Given the description of an element on the screen output the (x, y) to click on. 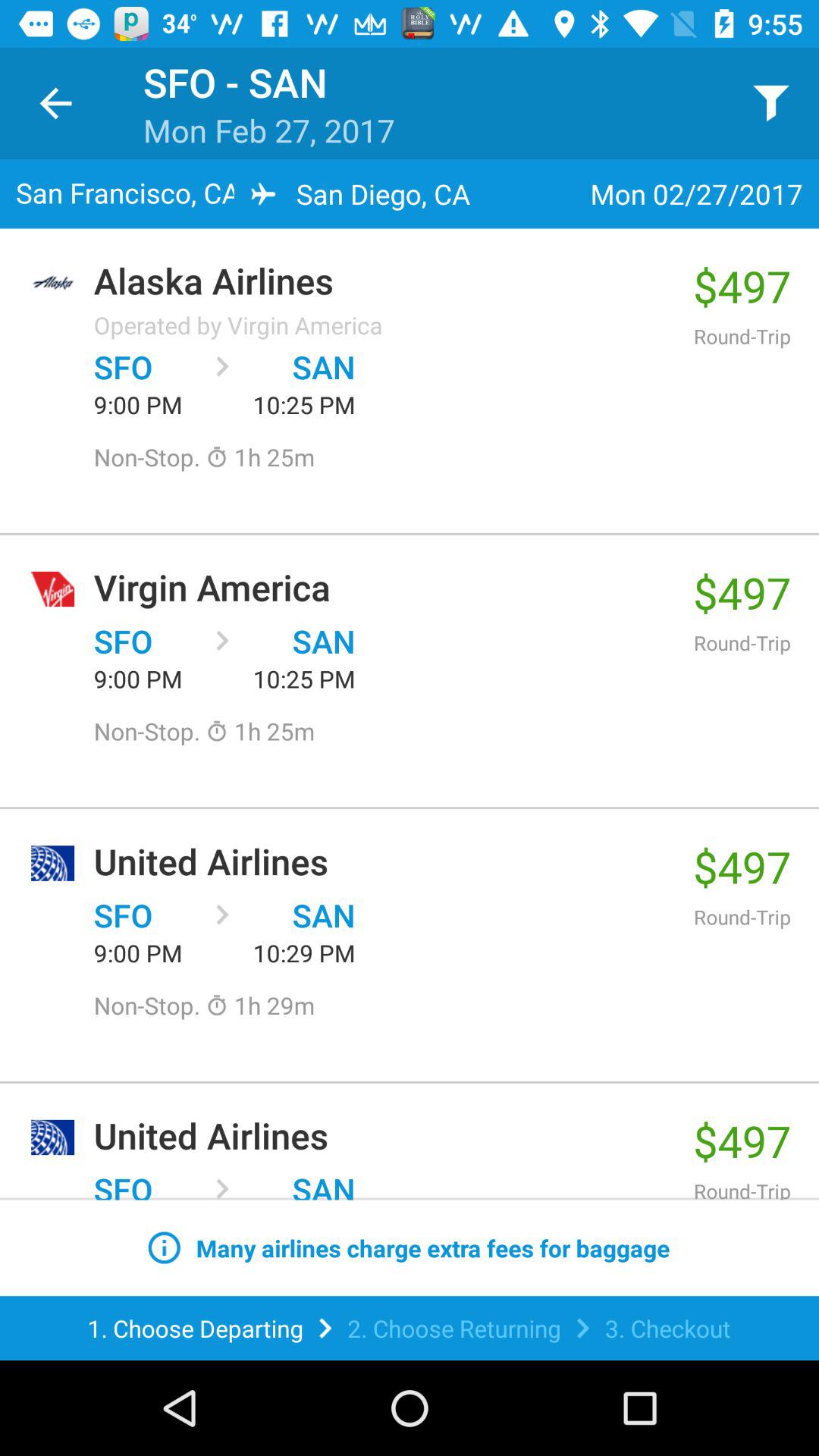
press icon next to $497 icon (237, 324)
